Given the description of an element on the screen output the (x, y) to click on. 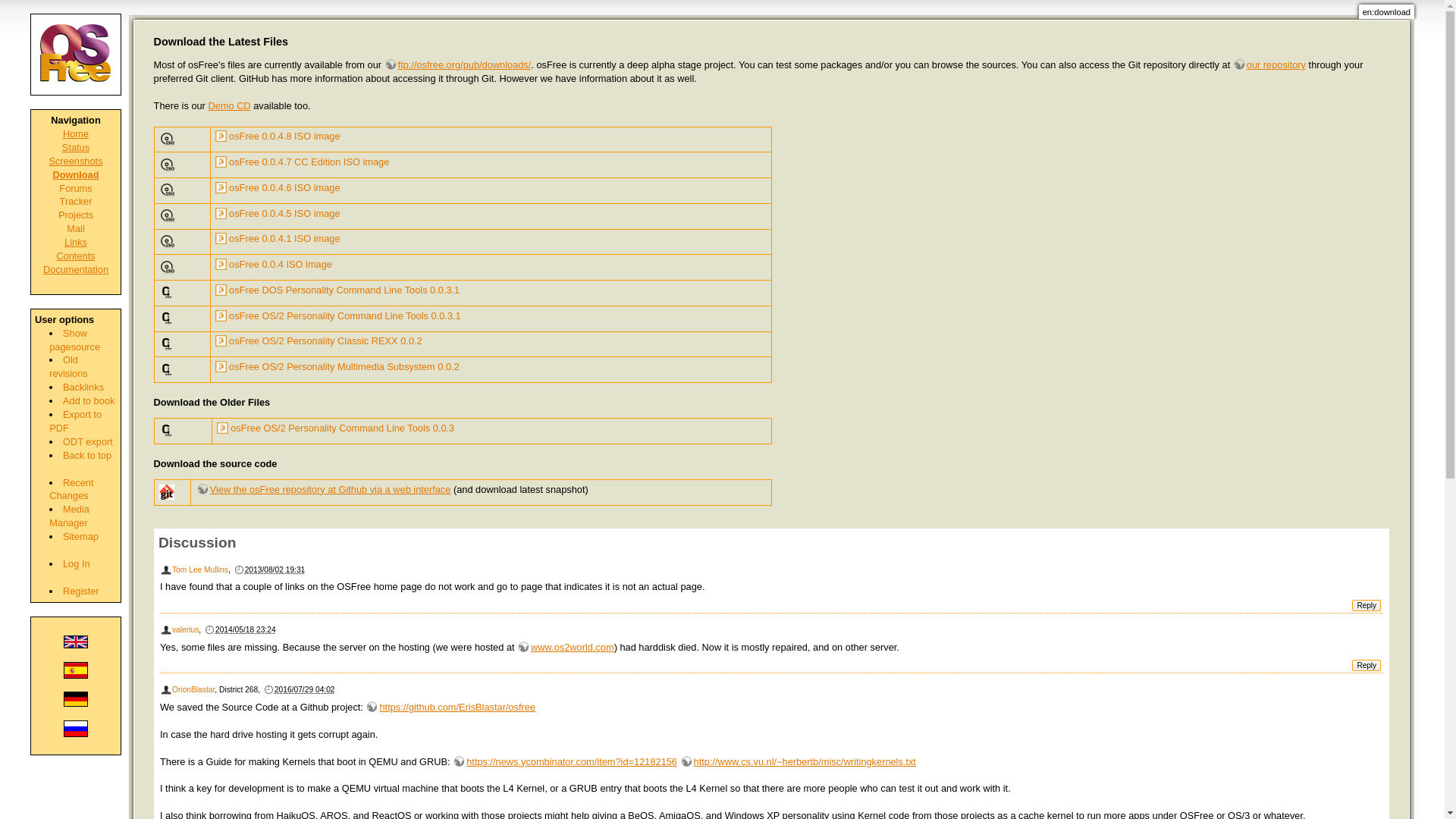
osFree 0.0.4.8 ISO image (277, 135)
en:screenshots (74, 161)
Reply (1366, 604)
en:links (75, 242)
Home (75, 133)
Add to book (88, 400)
Forums (75, 188)
Back to top (87, 455)
Status (75, 147)
Media Manager (68, 515)
en:docs:index (75, 269)
Reply (1366, 665)
ODT export (87, 441)
Recent Changes (71, 489)
Tracker (76, 201)
